Given the description of an element on the screen output the (x, y) to click on. 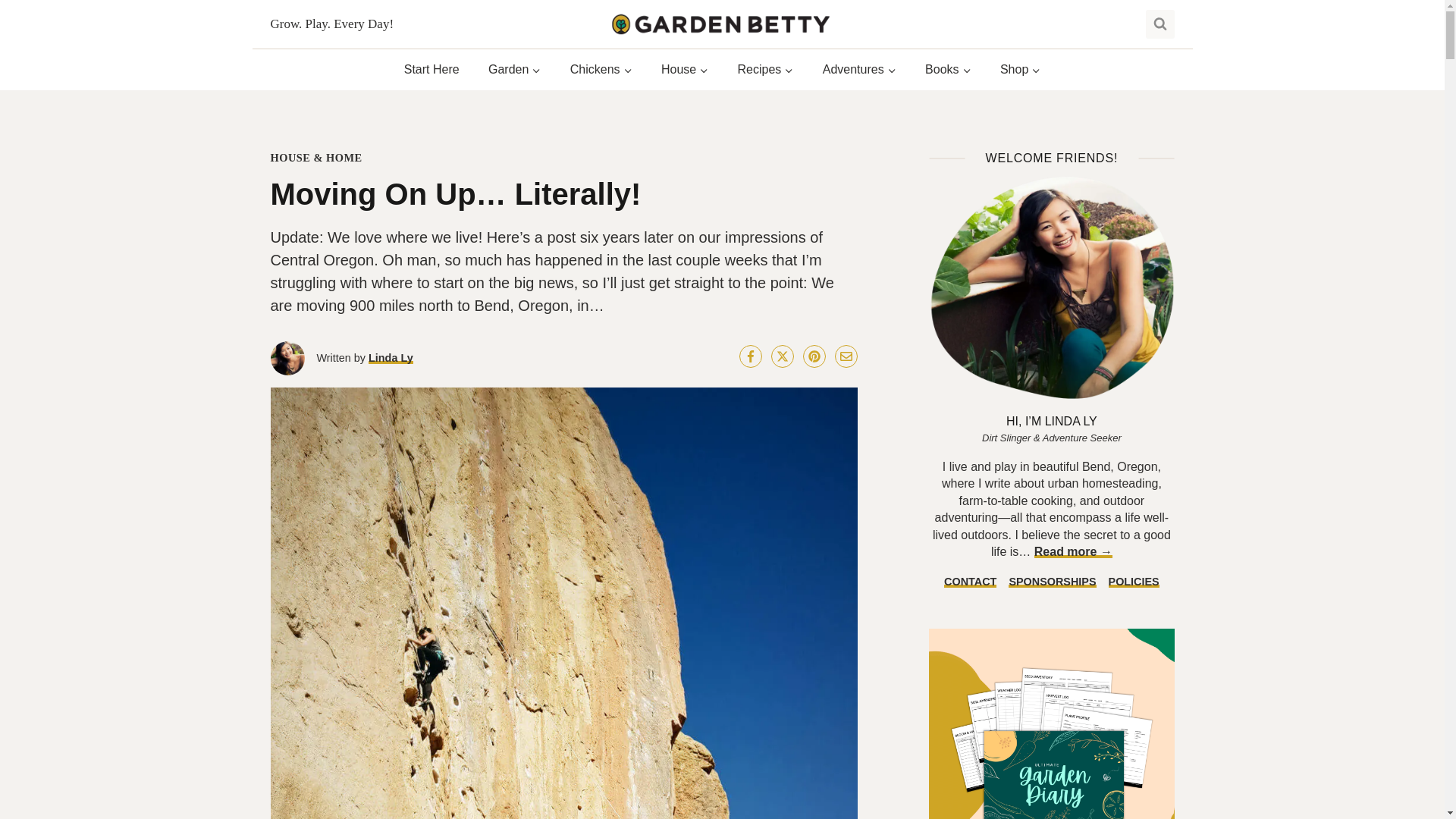
Start Here (432, 69)
House (684, 69)
Garden (515, 69)
Books (948, 69)
Adventures (859, 69)
Recipes (765, 69)
Chickens (601, 69)
